Given the description of an element on the screen output the (x, y) to click on. 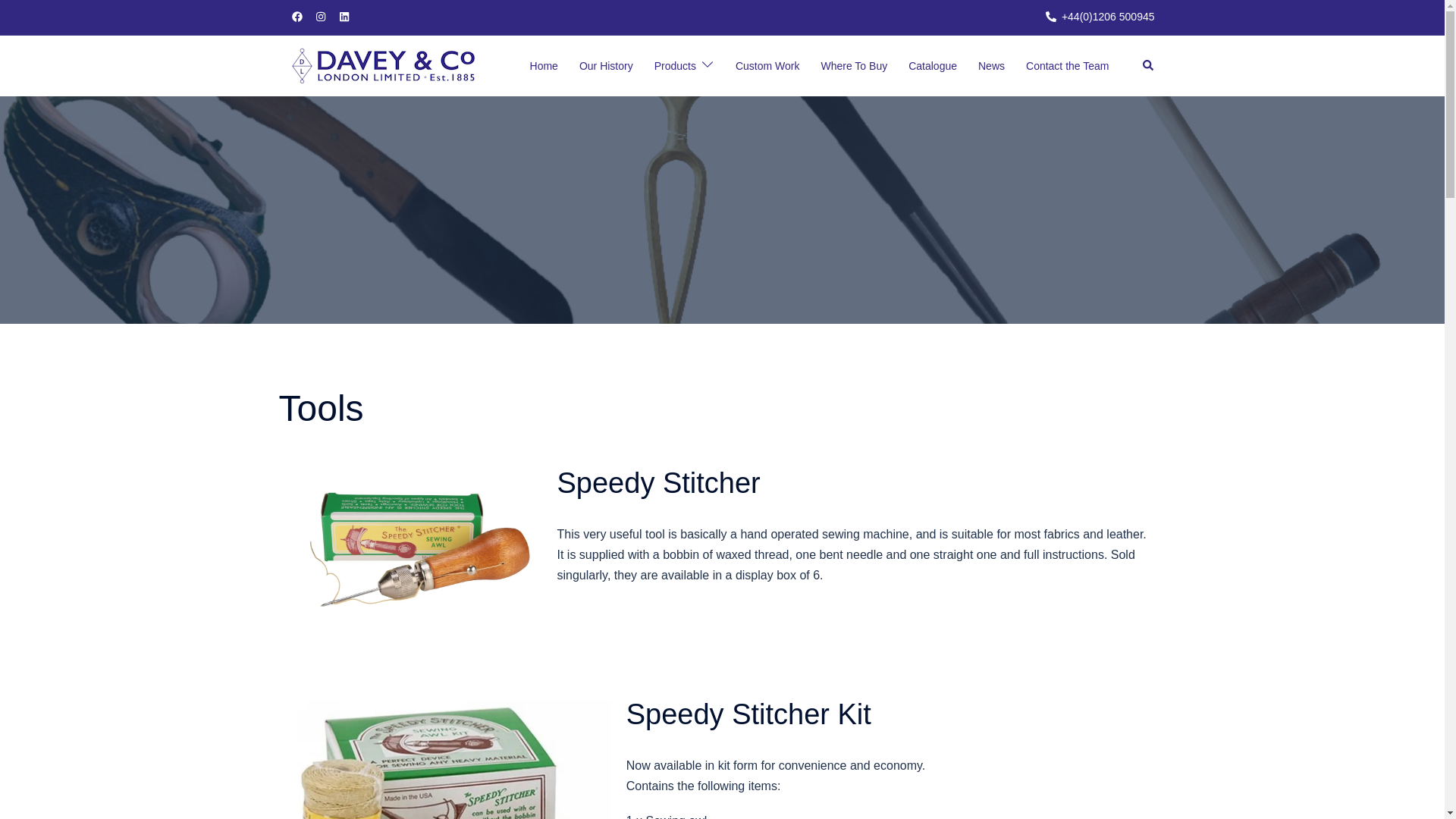
News (991, 66)
Custom Work (767, 66)
Our History (606, 66)
Contact the Team (1067, 66)
Home (543, 66)
Catalogue (932, 66)
Products (674, 66)
Where To Buy (853, 66)
